Given the description of an element on the screen output the (x, y) to click on. 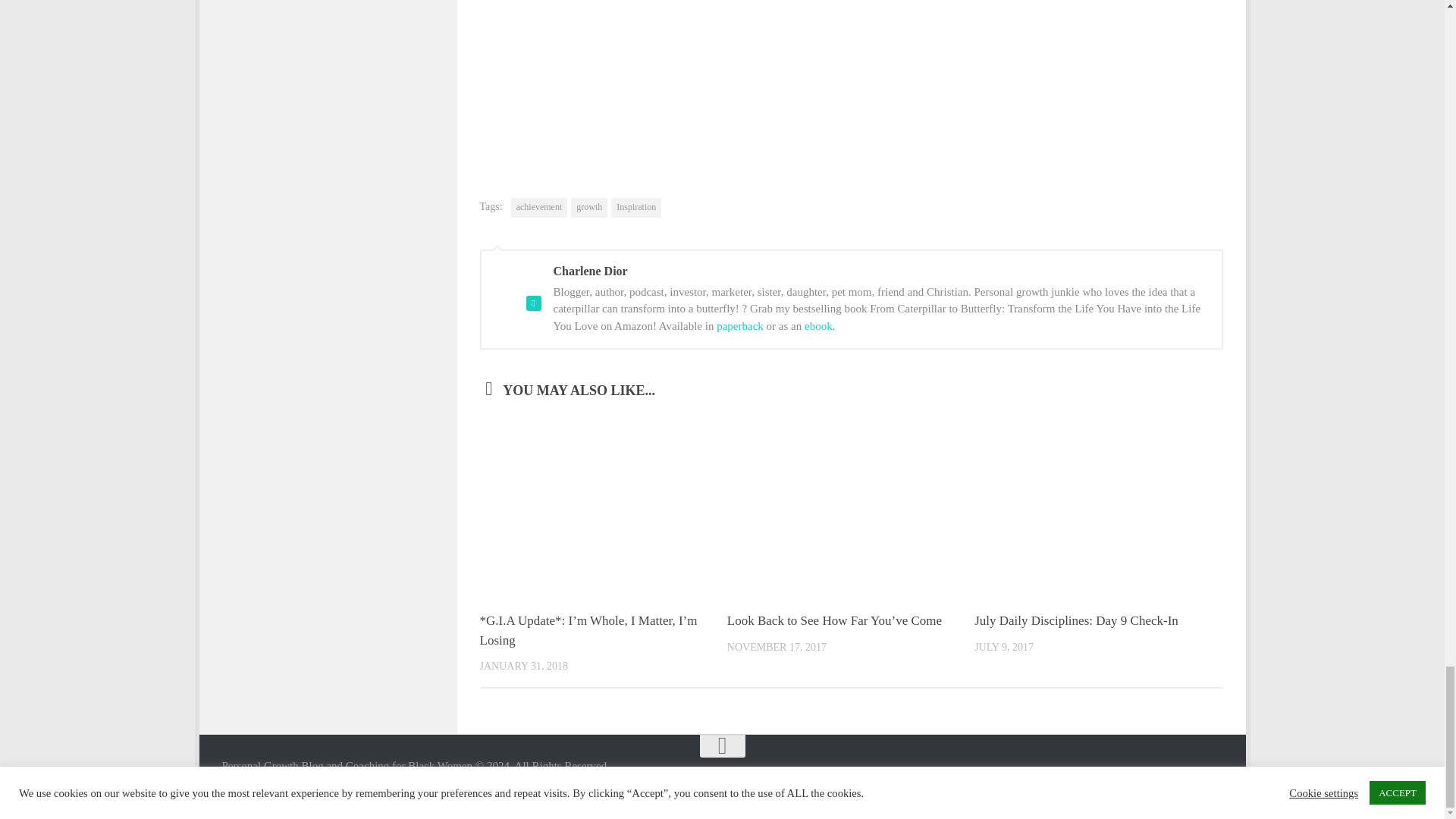
Follow us on Youtube (1157, 775)
Follow us on Instagram (1129, 775)
Powered by WordPress (275, 787)
Follow us on Facebook (1075, 775)
achievement (539, 207)
Hueman theme (395, 787)
Follow us on Twitter (1102, 775)
